Given the description of an element on the screen output the (x, y) to click on. 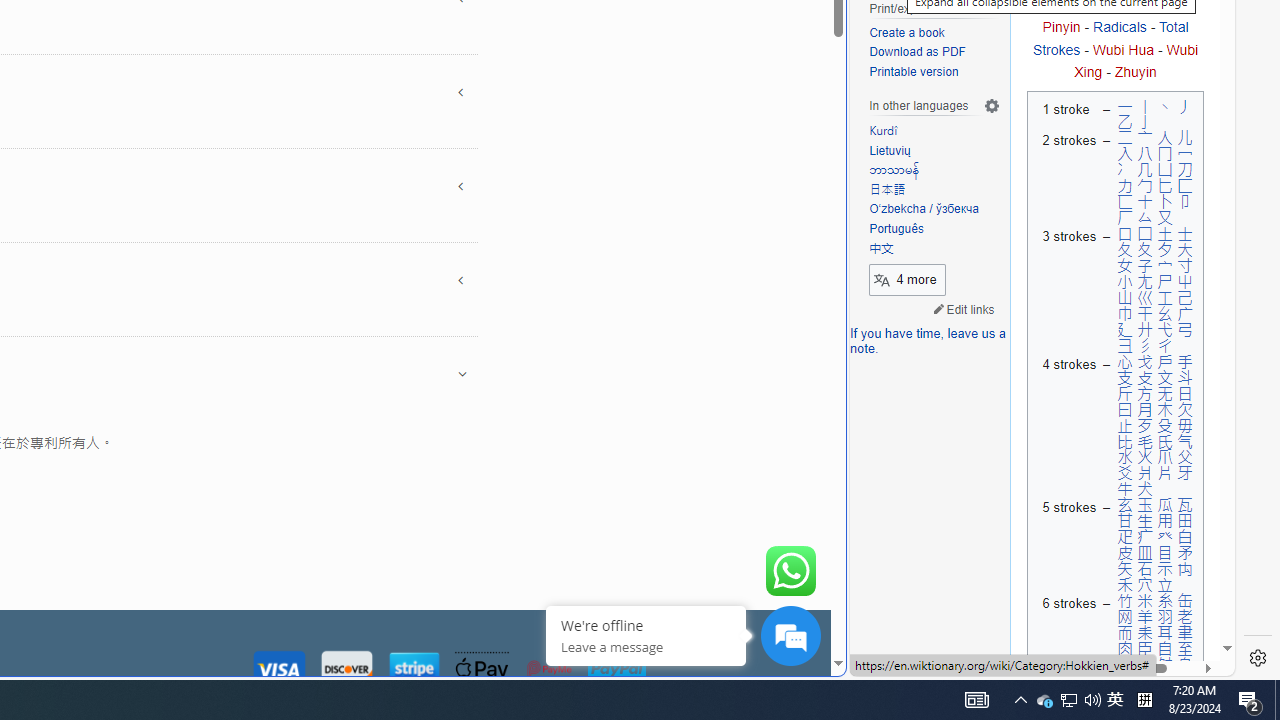
Download as PDF (934, 53)
